Given the description of an element on the screen output the (x, y) to click on. 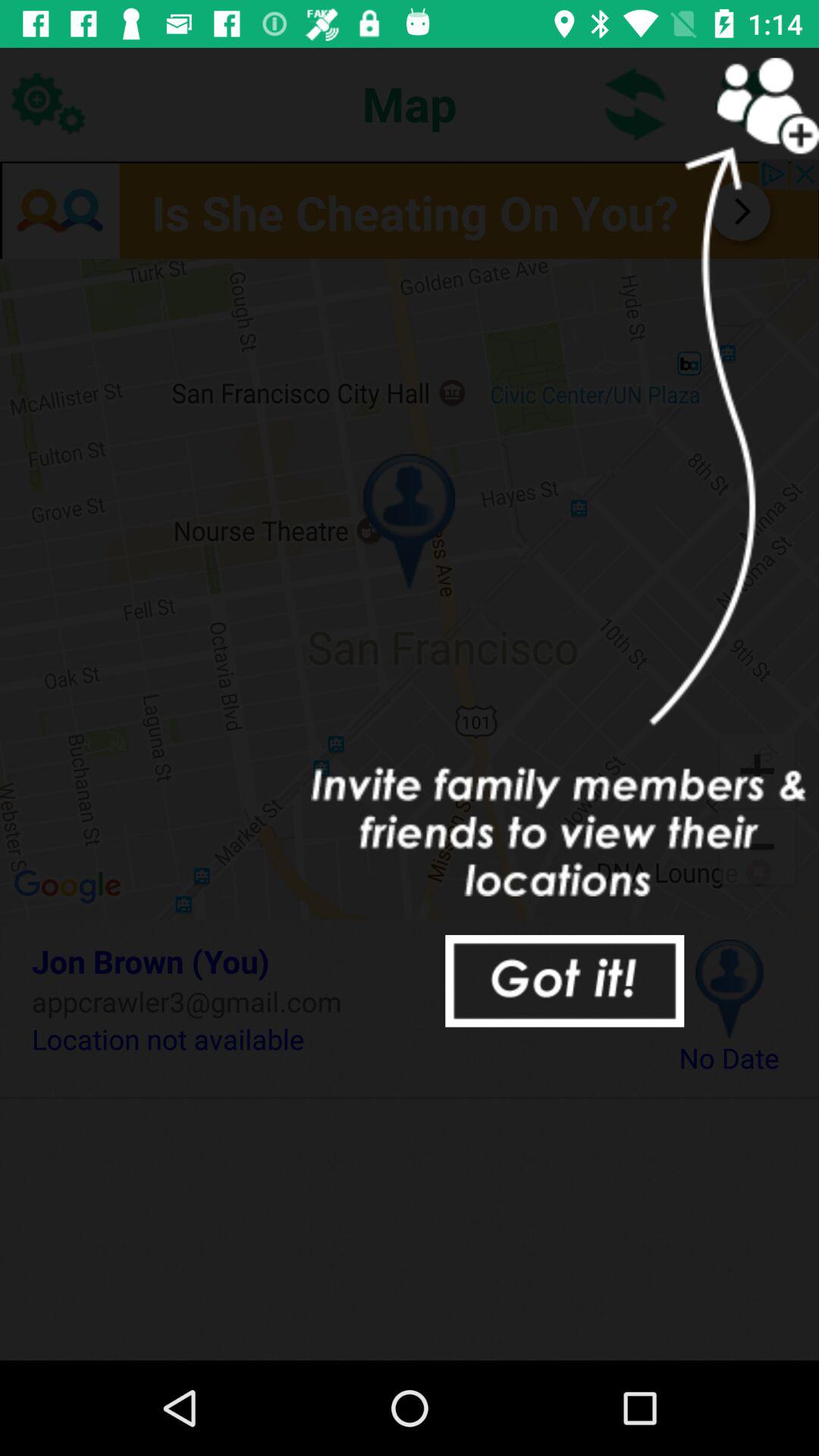
choose the item to the right of the jon brown (you) (729, 989)
